Given the description of an element on the screen output the (x, y) to click on. 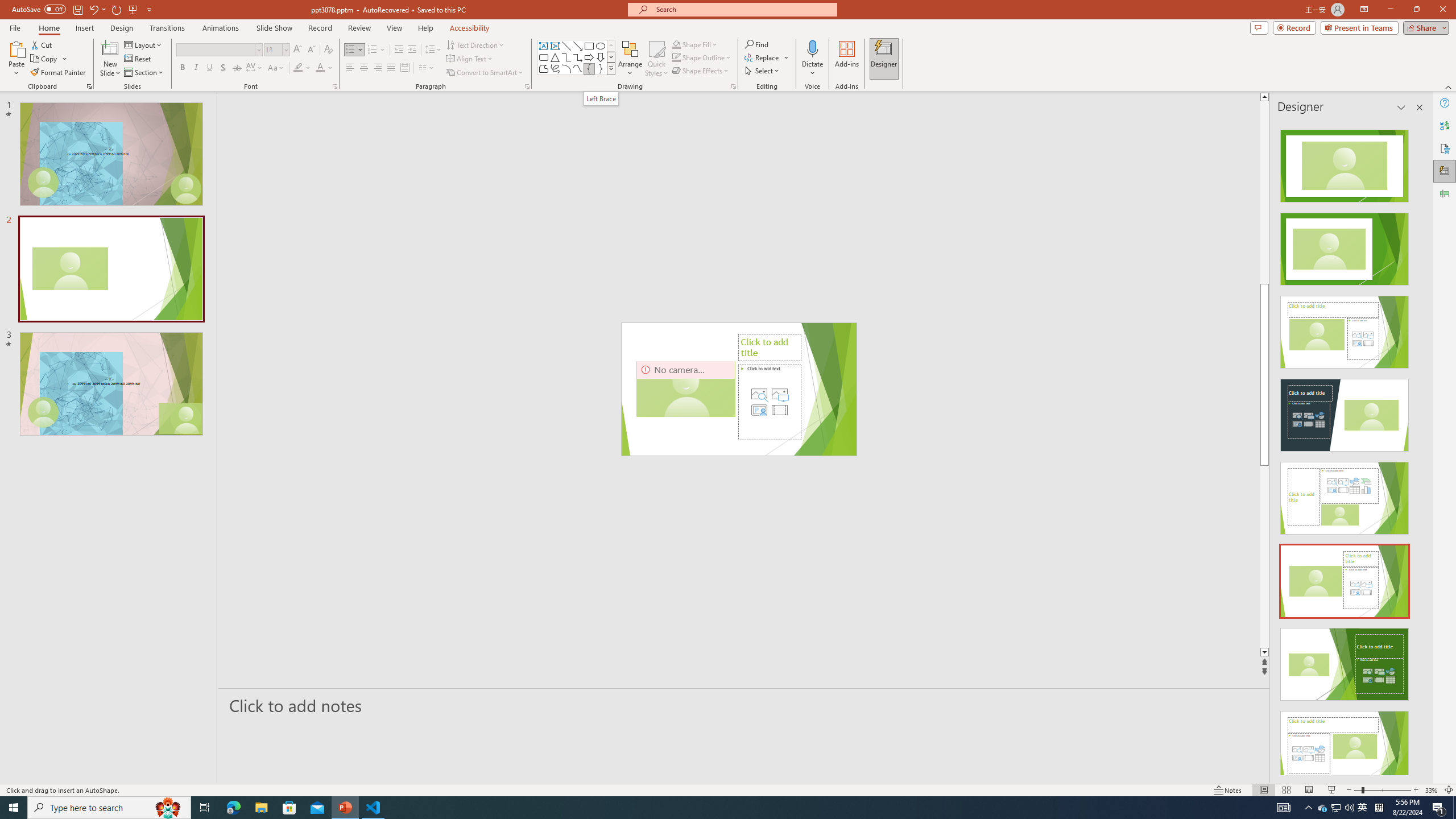
Left Brace (600, 98)
Columns (426, 67)
Open (285, 49)
Find... (756, 44)
Character Spacing (254, 67)
Translator (1444, 125)
Line down (1302, 652)
Close pane (1419, 107)
